Given the description of an element on the screen output the (x, y) to click on. 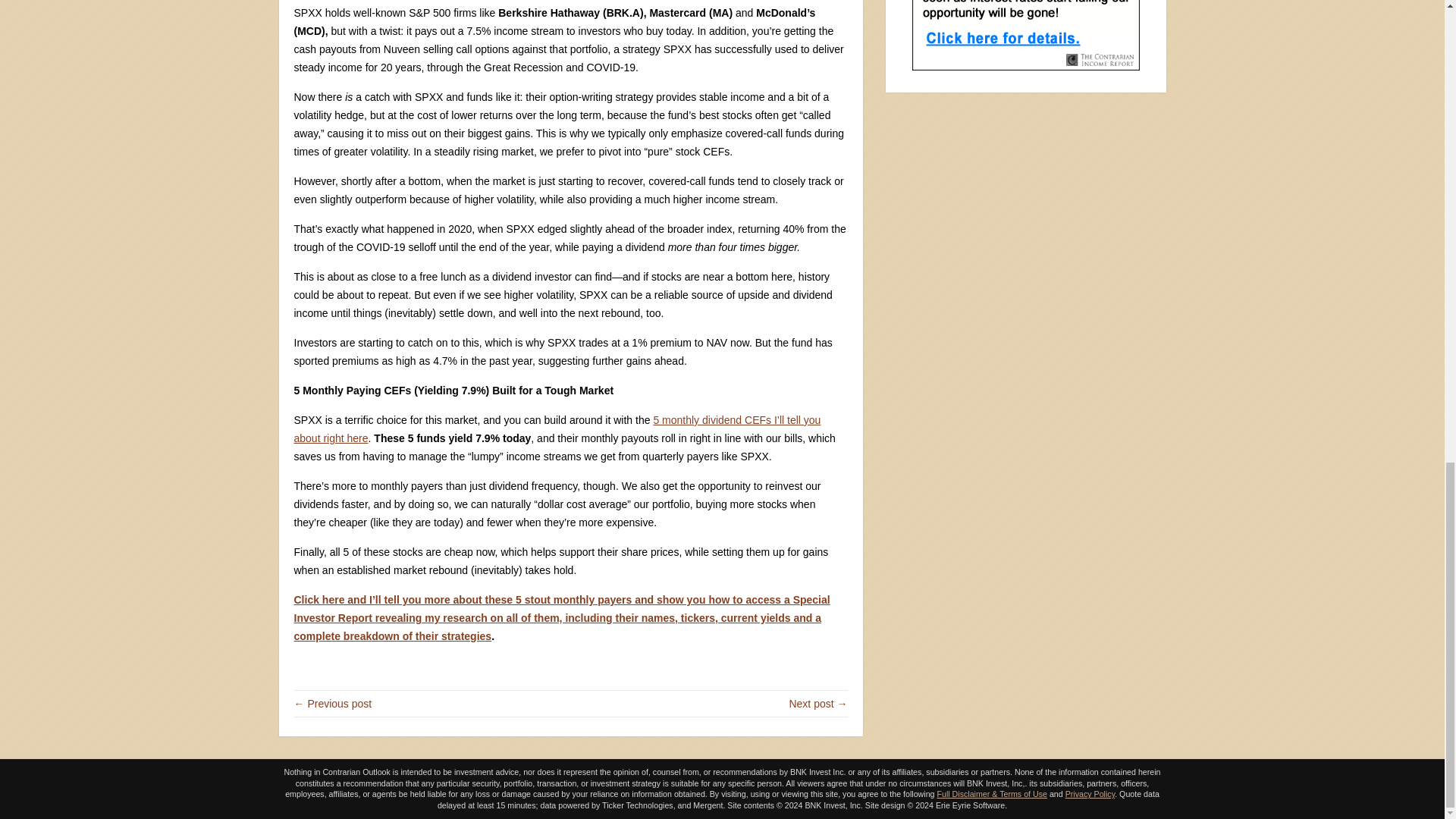
Privacy Policy (1090, 793)
This Megabank Is a Megabuy After Earnings (818, 703)
